Given the description of an element on the screen output the (x, y) to click on. 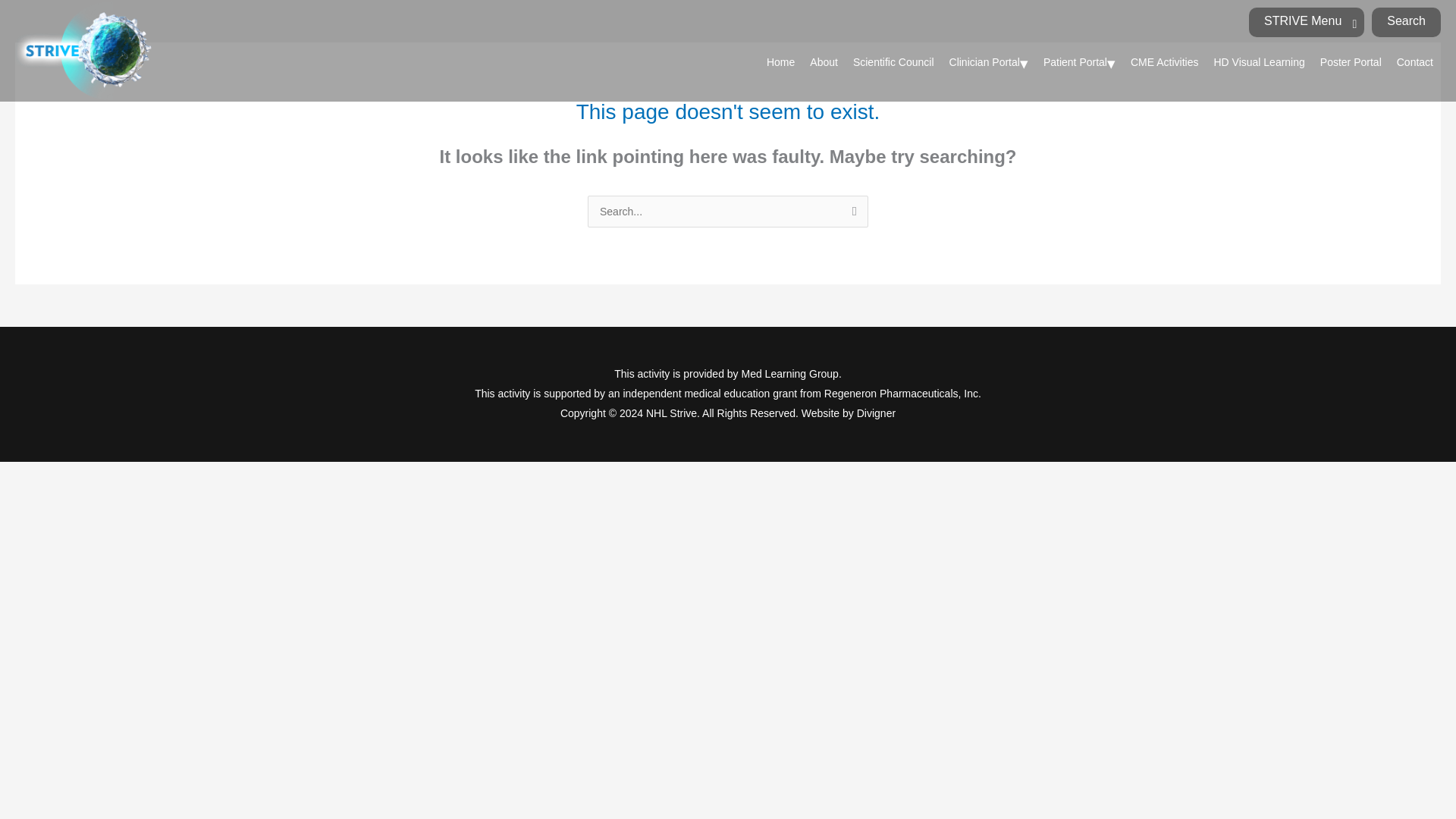
Contact (1415, 62)
Divigner (876, 413)
About (823, 62)
Scientific Council (893, 62)
CME Activities (1163, 62)
HD Visual Learning (1258, 62)
STRIVE Menu (1306, 21)
Patient Portal (1078, 62)
Home (780, 62)
Poster Portal (1351, 62)
